Given the description of an element on the screen output the (x, y) to click on. 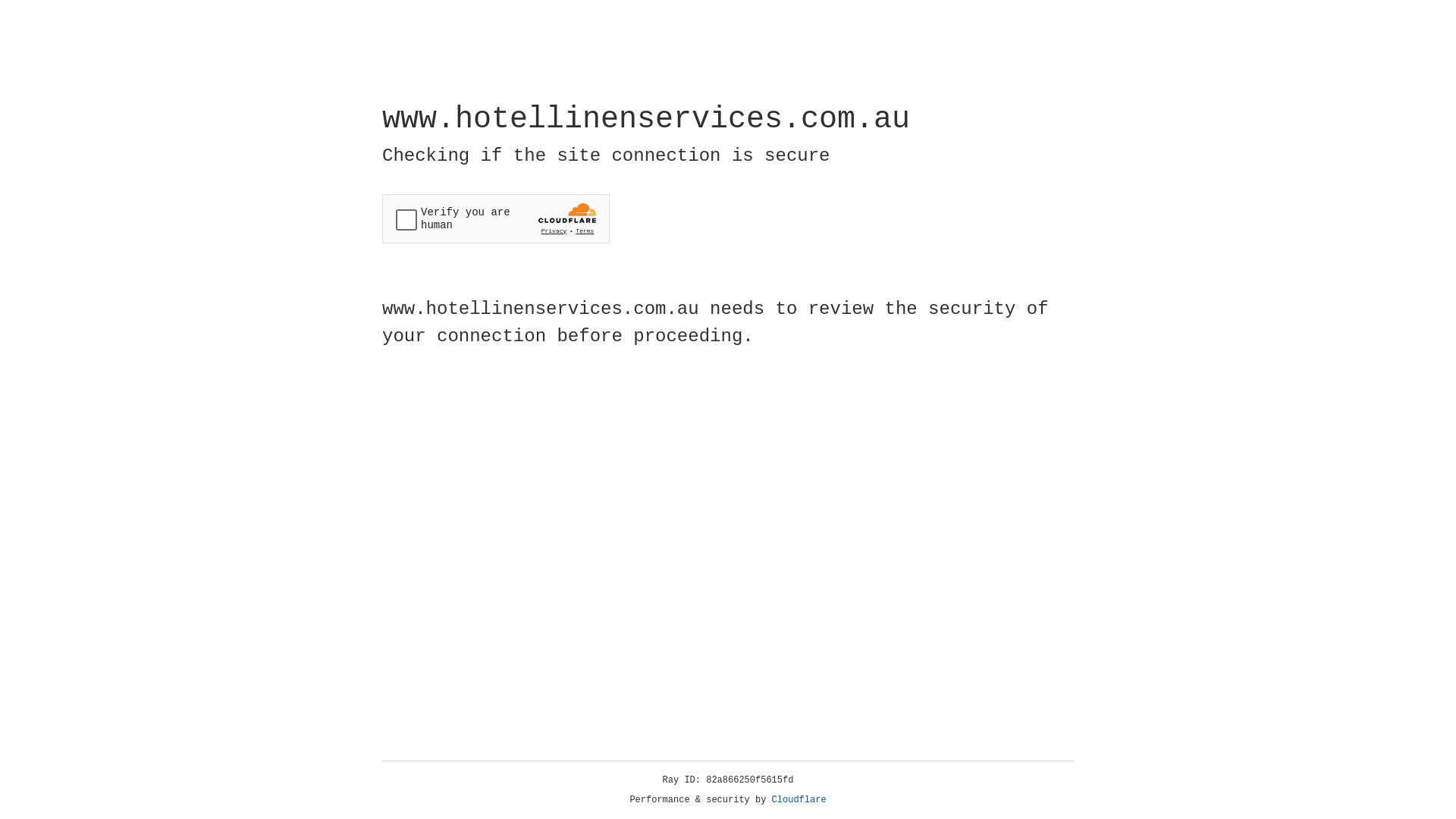
Cloudflare Element type: text (798, 799)
Widget containing a Cloudflare security challenge Element type: hover (495, 218)
